Given the description of an element on the screen output the (x, y) to click on. 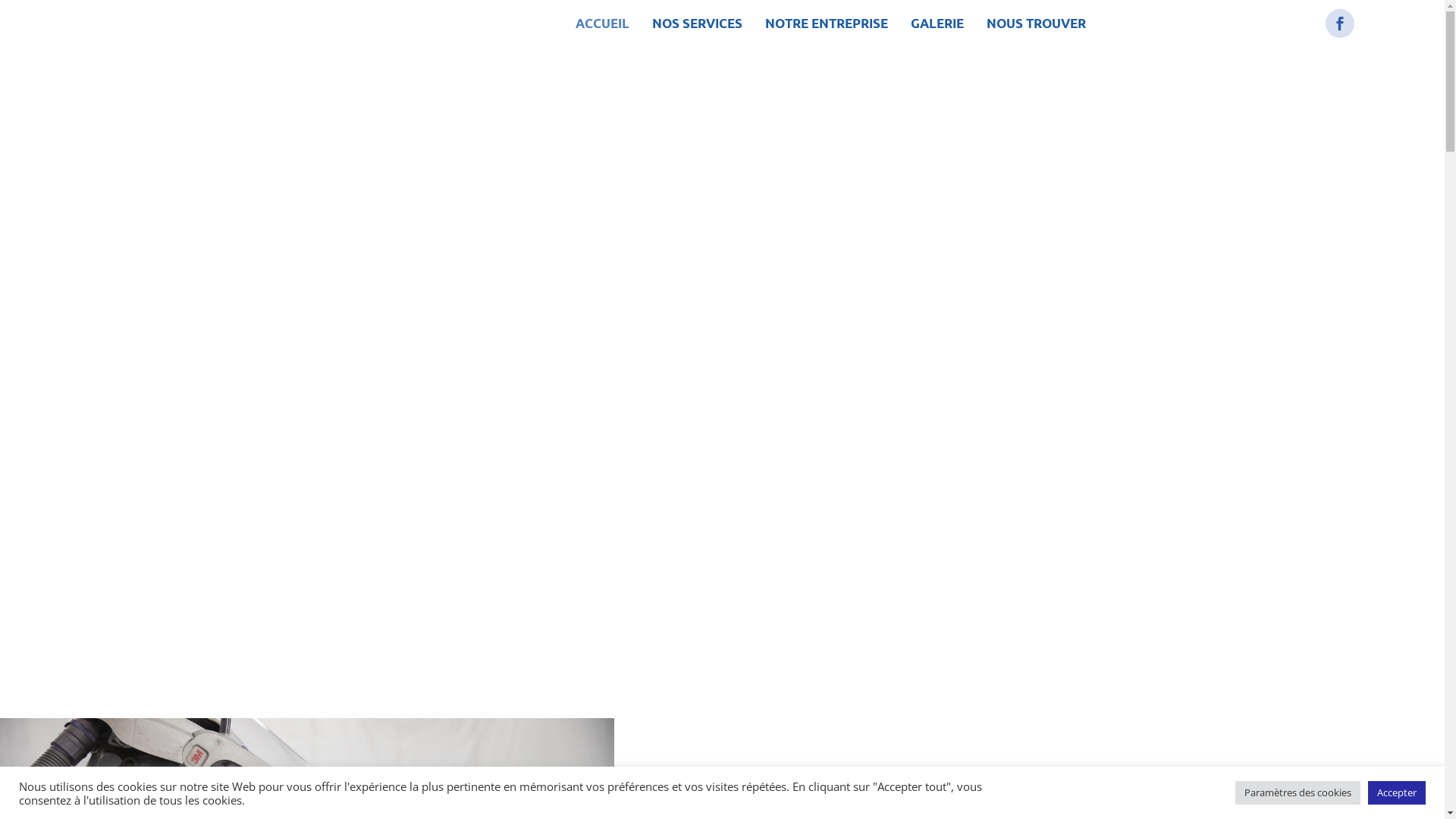
NOUS TROUVER Element type: text (1036, 22)
ACCUEIL Element type: text (602, 22)
NOTRE ENTREPRISE Element type: text (826, 22)
GALERIE Element type: text (936, 22)
Accepter Element type: text (1396, 792)
NOS SERVICES Element type: text (697, 22)
